Given the description of an element on the screen output the (x, y) to click on. 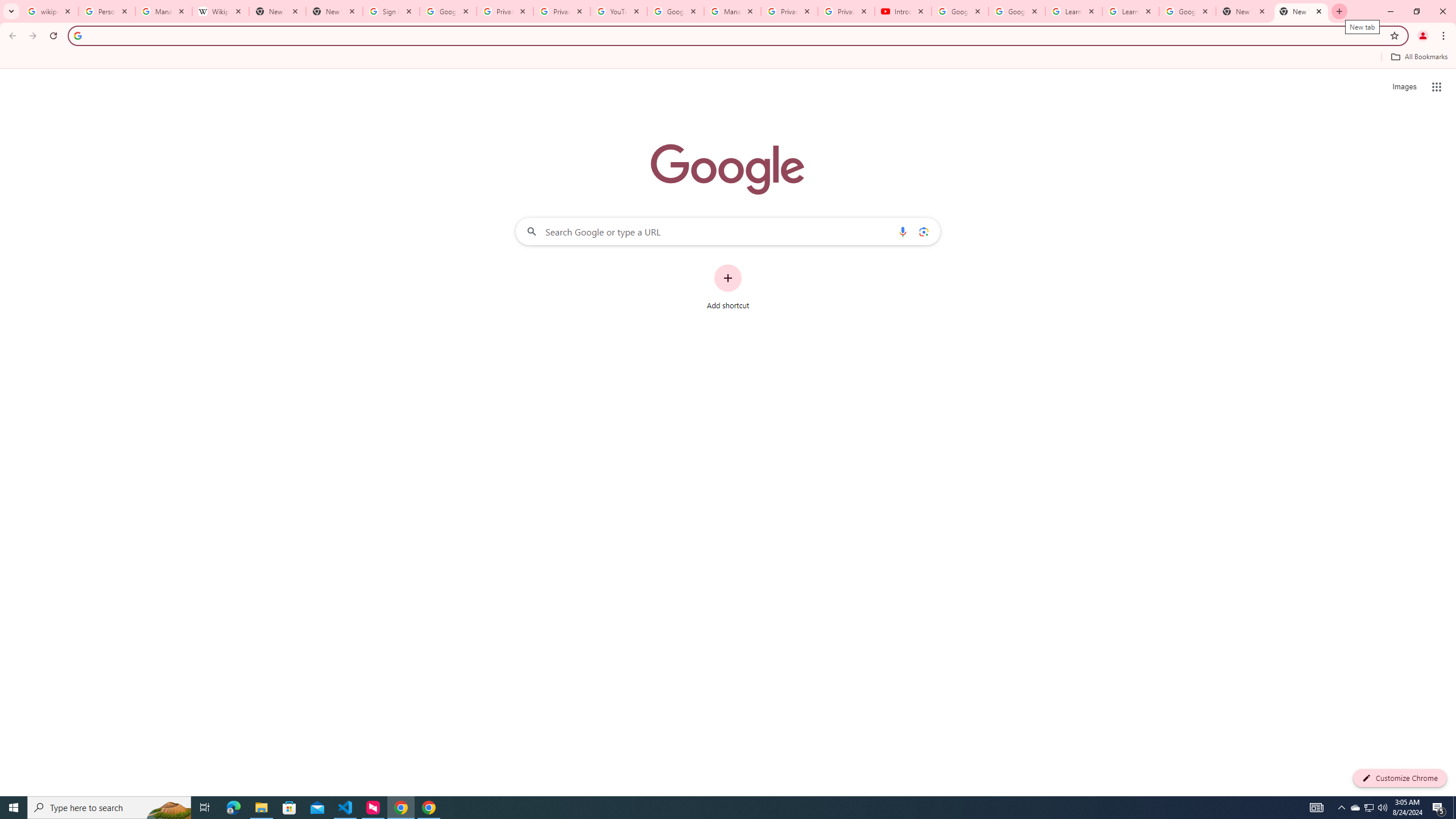
Personalization & Google Search results - Google Search Help (105, 11)
